Given the description of an element on the screen output the (x, y) to click on. 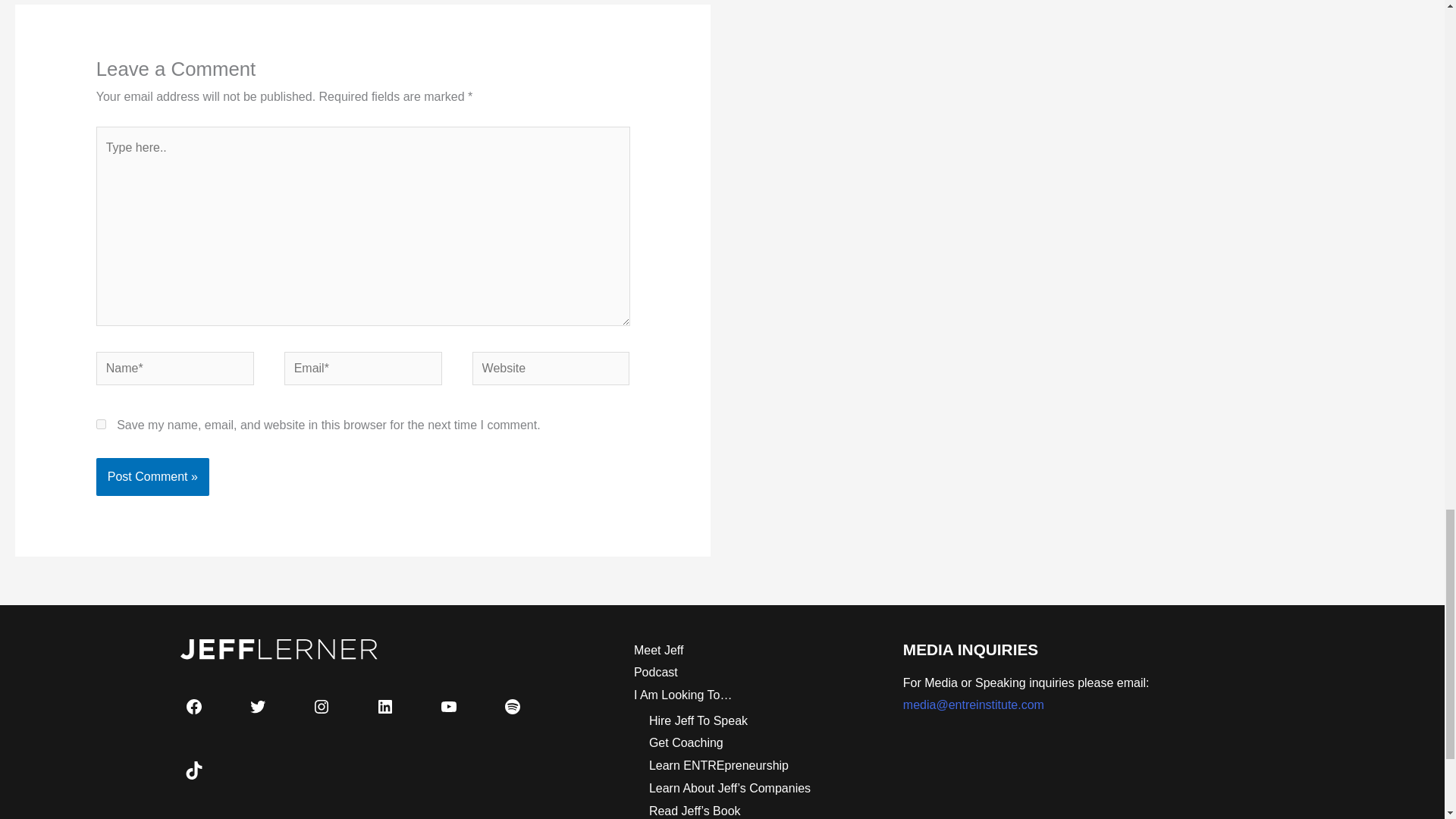
yes (101, 424)
reviews (719, 765)
